Given the description of an element on the screen output the (x, y) to click on. 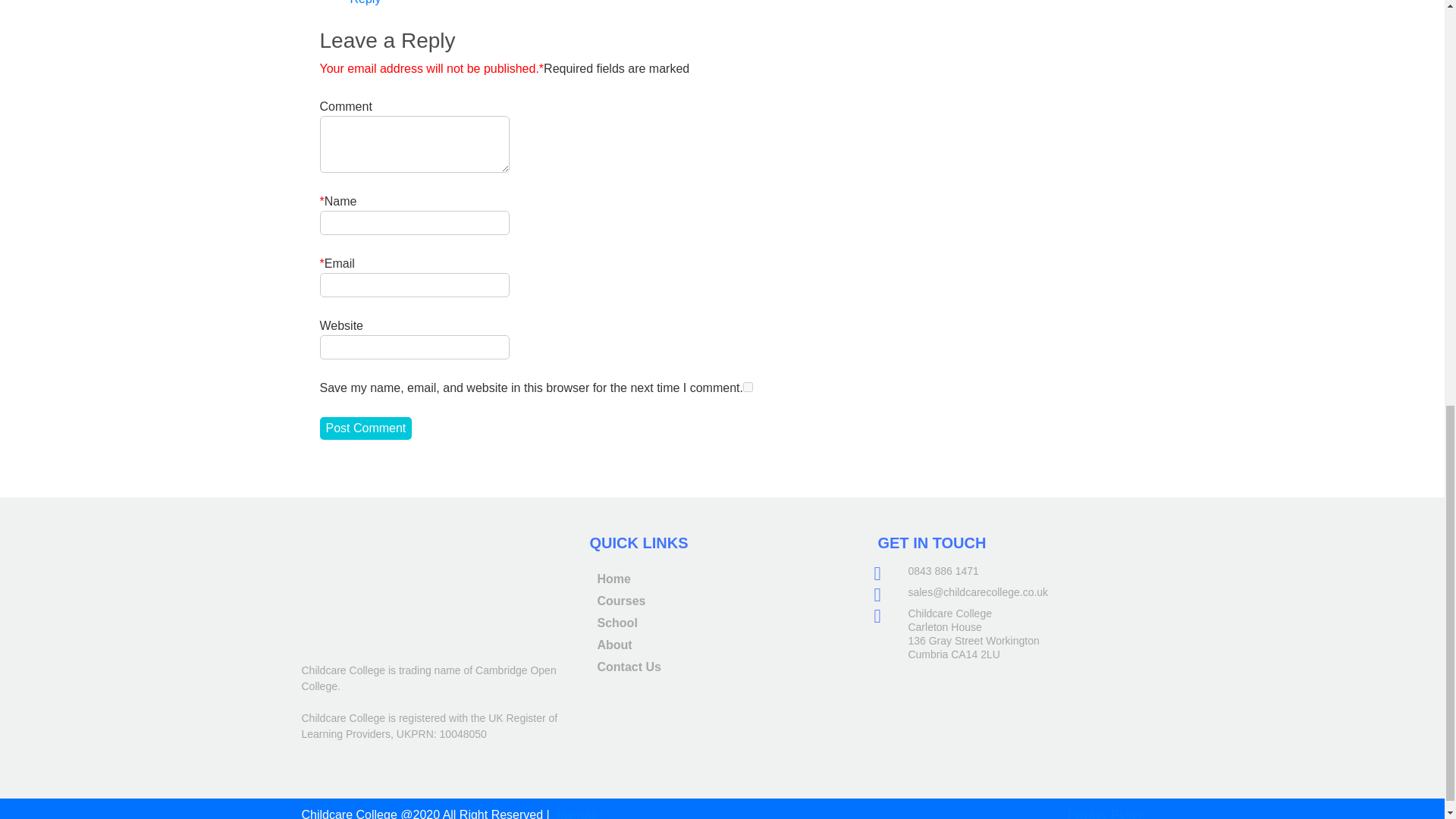
Post Comment (366, 427)
School (616, 622)
Reply (365, 2)
yes (747, 387)
Courses (620, 600)
About (613, 644)
Home (613, 578)
Post Comment (366, 427)
